Given the description of an element on the screen output the (x, y) to click on. 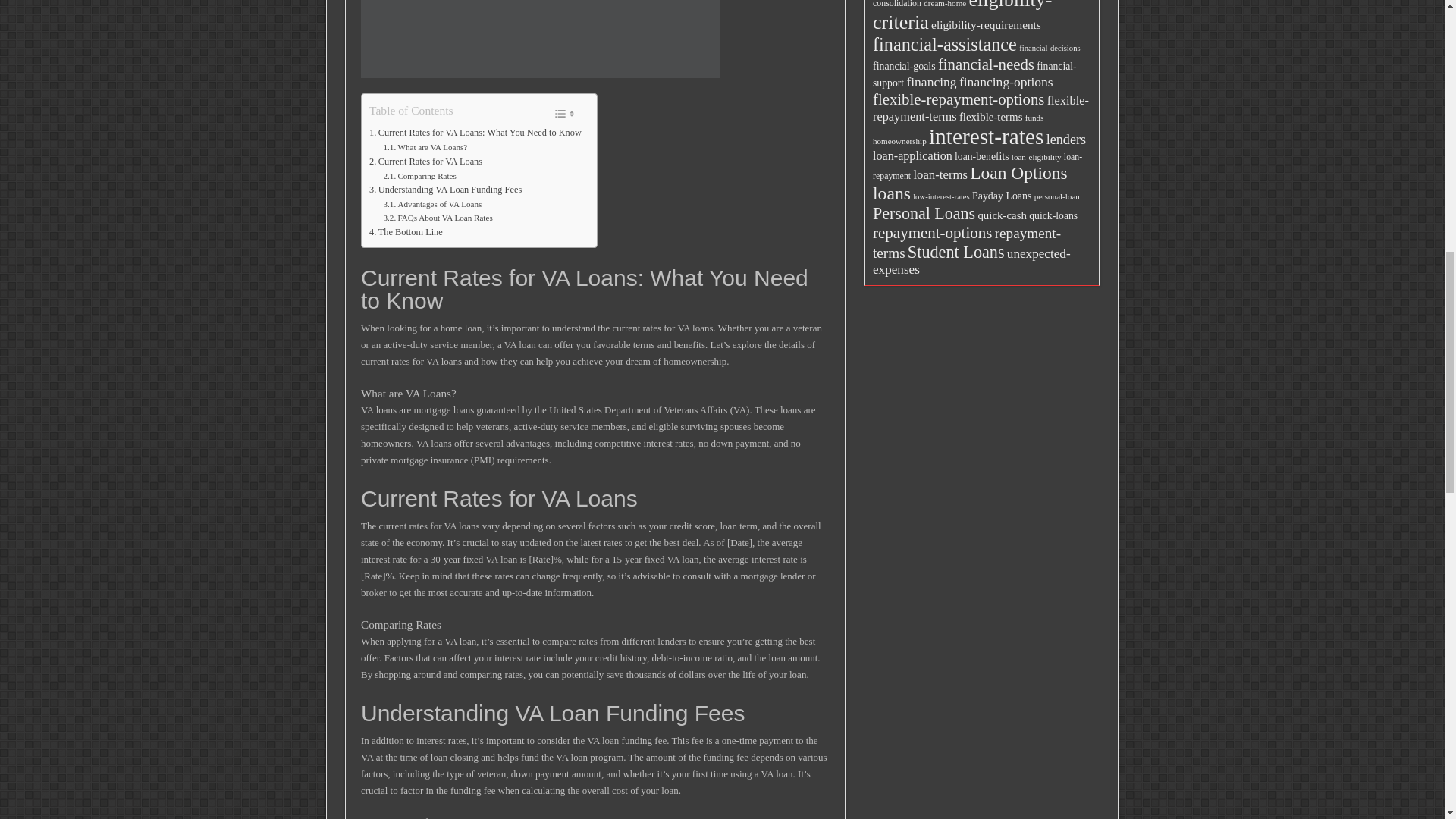
Advantages of VA Loans (432, 204)
Understanding VA Loan Funding Fees (445, 190)
Current Rates for VA Loans (425, 161)
Comparing Rates (420, 176)
Current Rates for VA Loans: What You Need to Know (474, 133)
What are VA Loans? (425, 147)
Understanding VA Loan Funding Fees (445, 190)
What are VA Loans? (425, 147)
FAQs About VA Loan Rates (438, 218)
Comparing Rates (420, 176)
Advantages of VA Loans (432, 204)
The Bottom Line (405, 232)
FAQs About VA Loan Rates (438, 218)
Current Rates for VA Loans (425, 161)
Current Rates for VA Loans: What You Need to Know (474, 133)
